Given the description of an element on the screen output the (x, y) to click on. 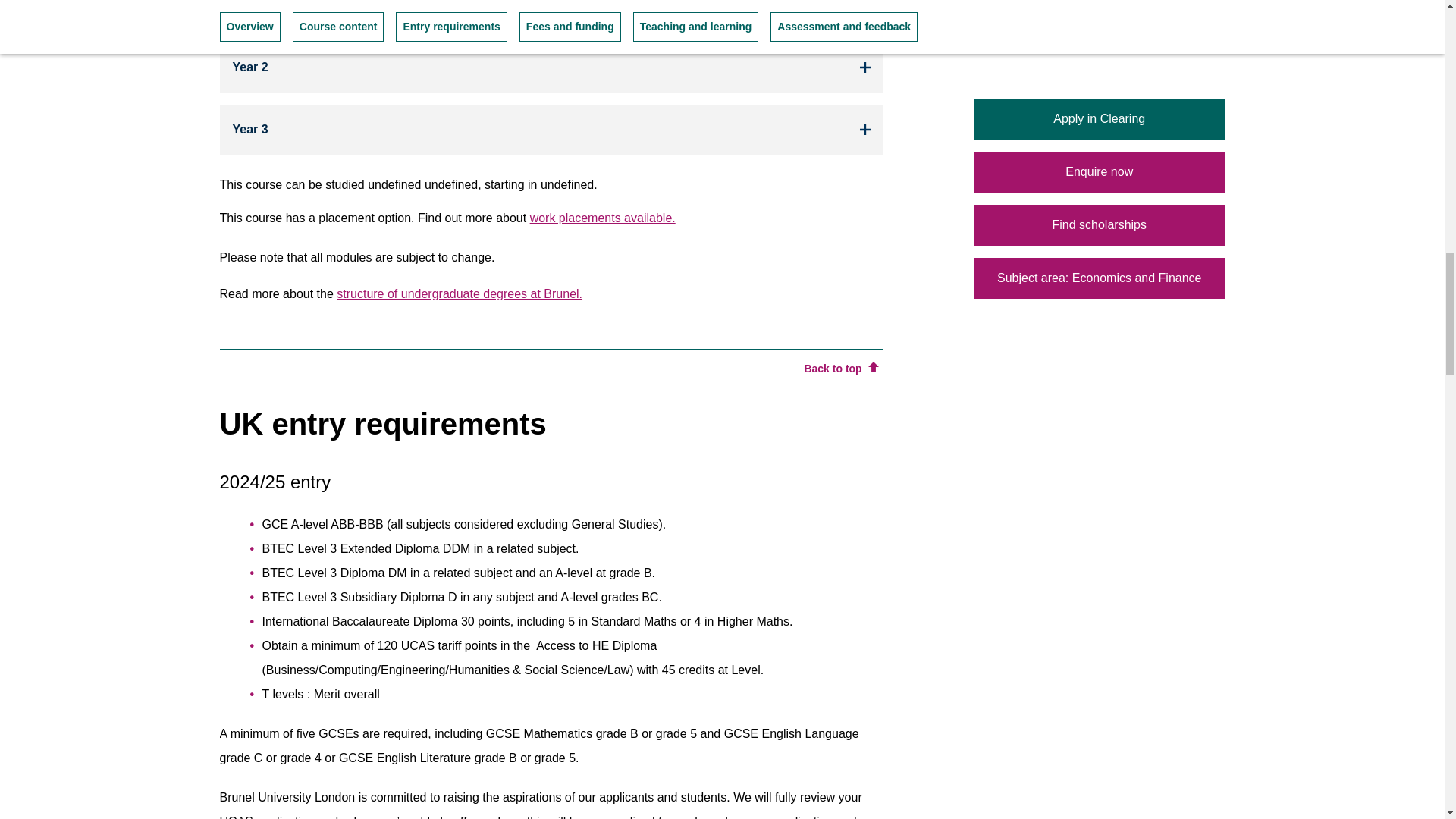
Back to top (551, 362)
Back to top (840, 368)
work placements available. (602, 217)
Back to top (840, 368)
structure of undergraduate degrees at Brunel. (459, 293)
Year 1 (551, 15)
Year 2 (551, 67)
Year 3 (551, 129)
